Given the description of an element on the screen output the (x, y) to click on. 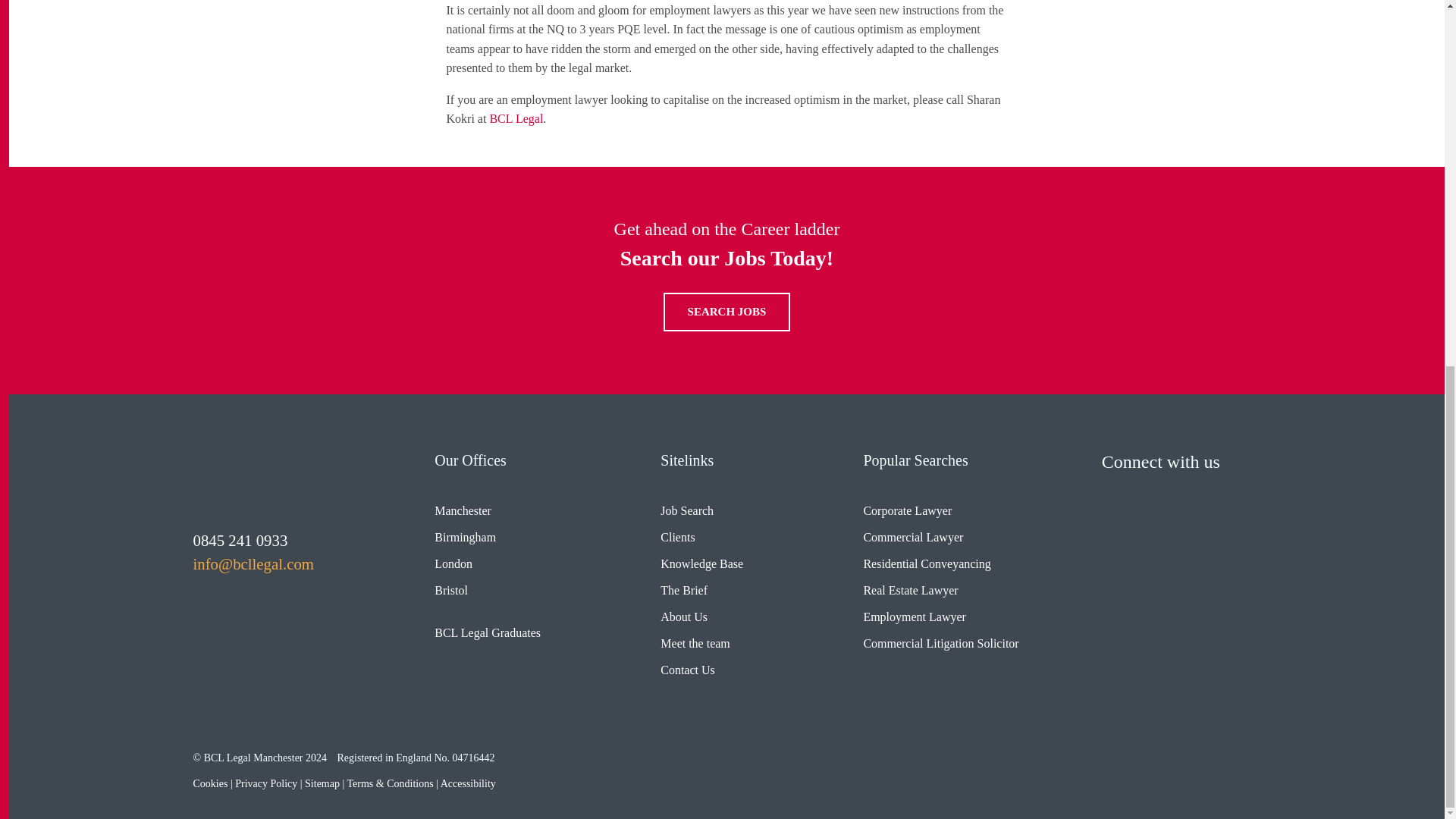
BCL Legal Recruitment (238, 477)
BCL Legal on LinkedIn (1162, 494)
BCL Legal on Twitter (1117, 494)
BCL Legal on Instagram (1207, 494)
